Given the description of an element on the screen output the (x, y) to click on. 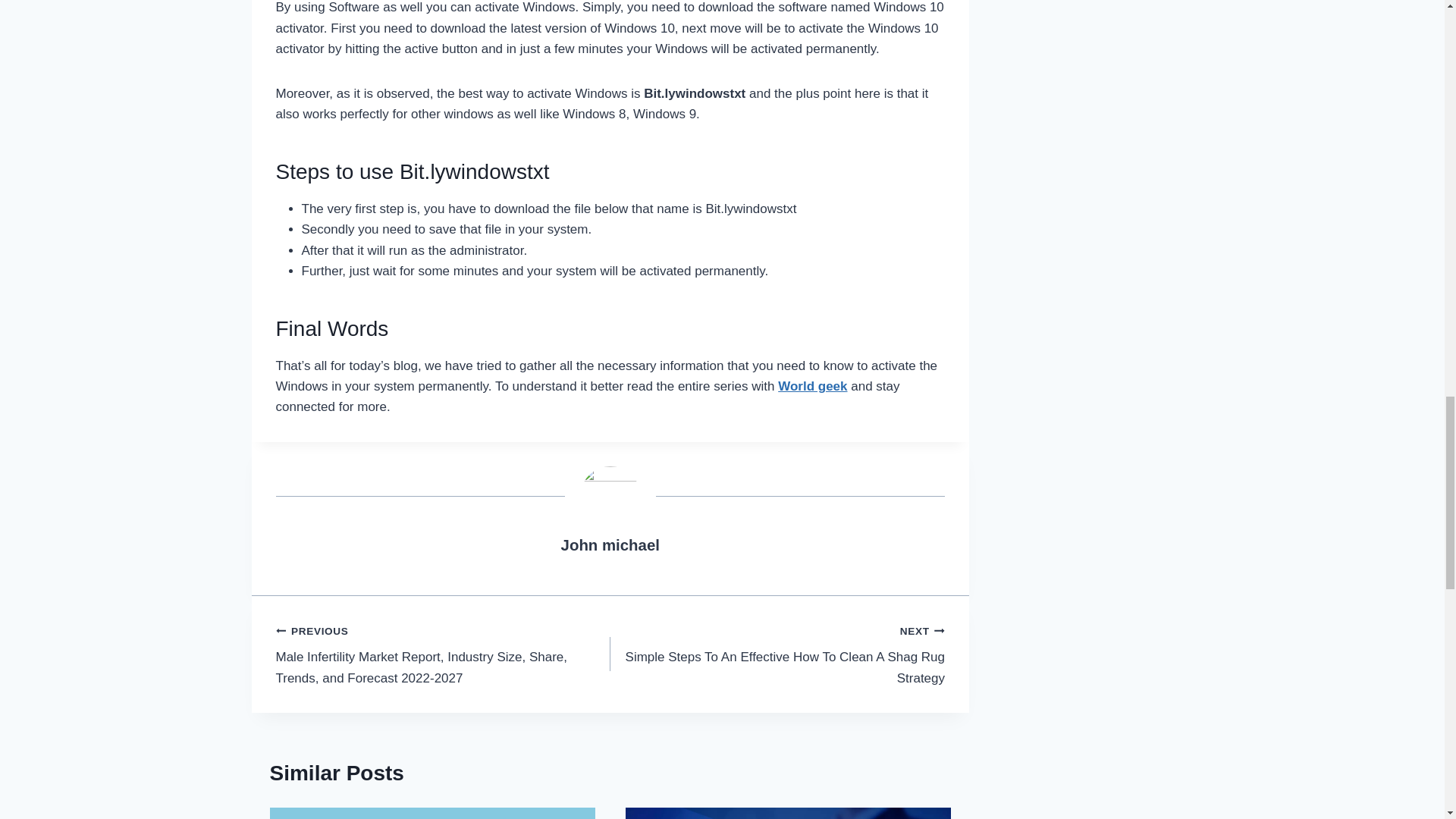
John michael (609, 545)
Posts by John michael (609, 545)
World geek (812, 386)
